Given the description of an element on the screen output the (x, y) to click on. 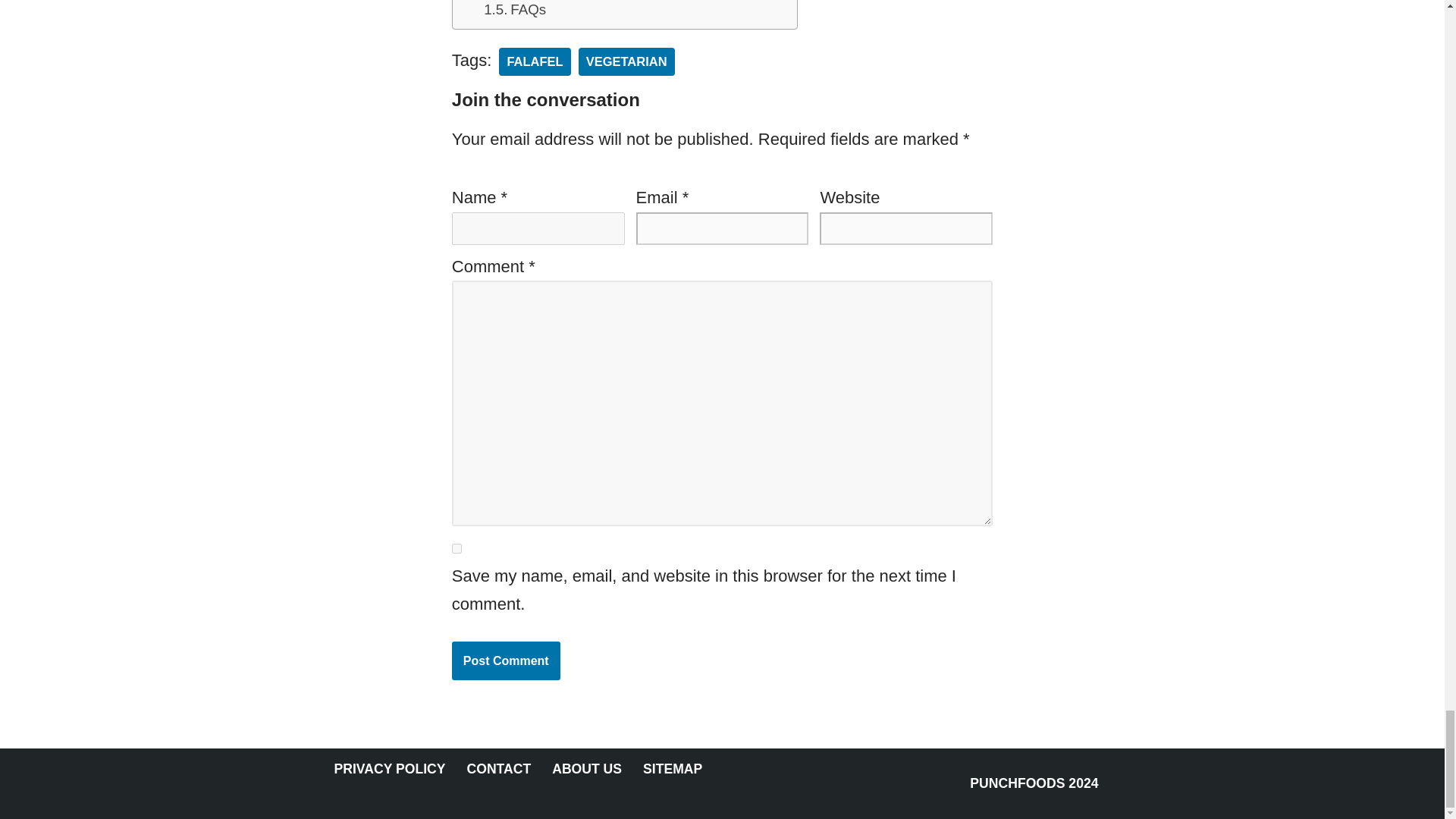
VEGETARIAN (626, 61)
falafel (534, 61)
FAQs (514, 10)
Post Comment (505, 660)
FALAFEL (534, 61)
Post Comment (505, 660)
Vegetarian (626, 61)
FAQs (514, 10)
PRIVACY POLICY (389, 768)
yes (456, 548)
